Given the description of an element on the screen output the (x, y) to click on. 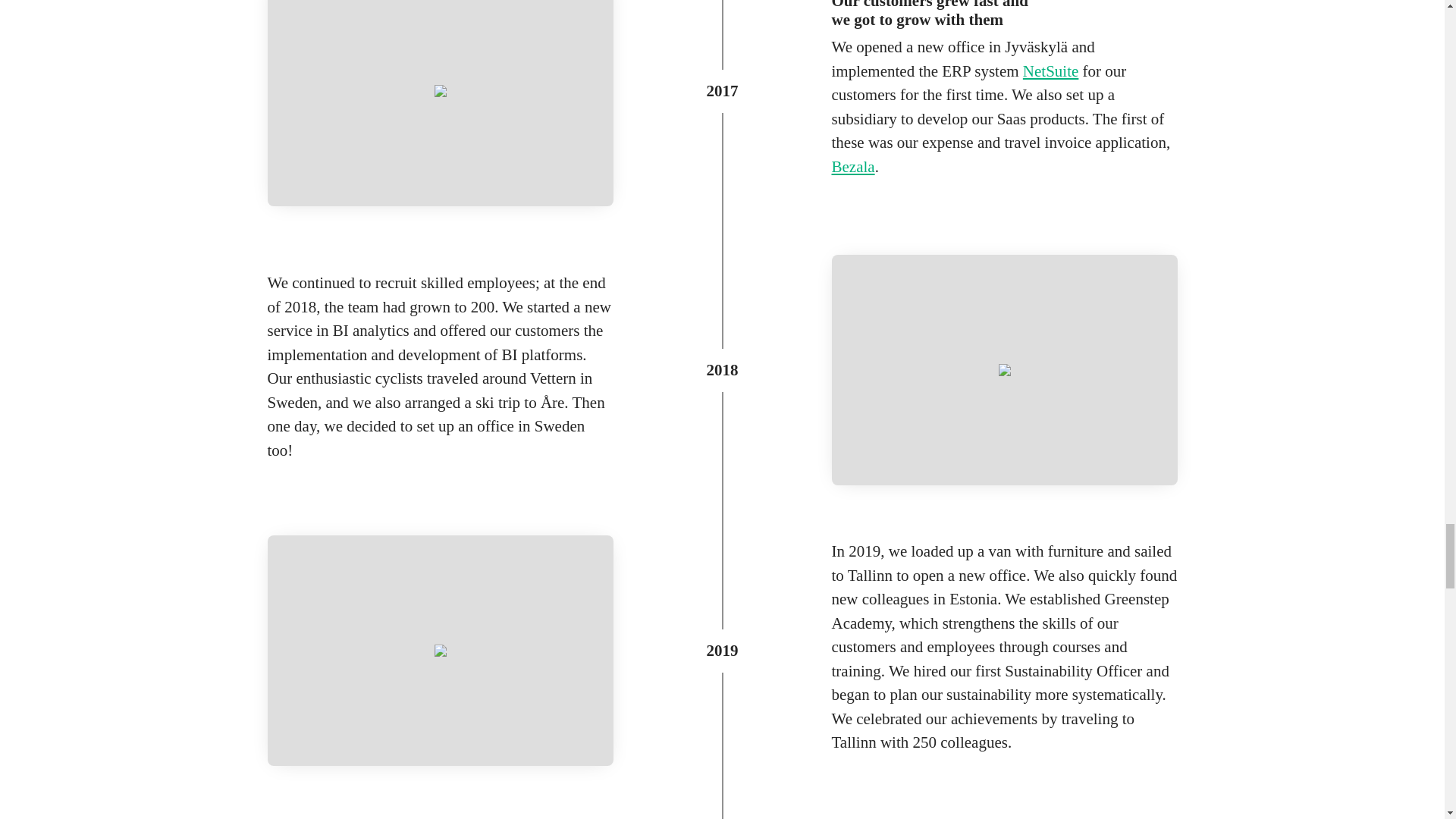
NetSuite (1050, 71)
Bezala (853, 167)
